Given the description of an element on the screen output the (x, y) to click on. 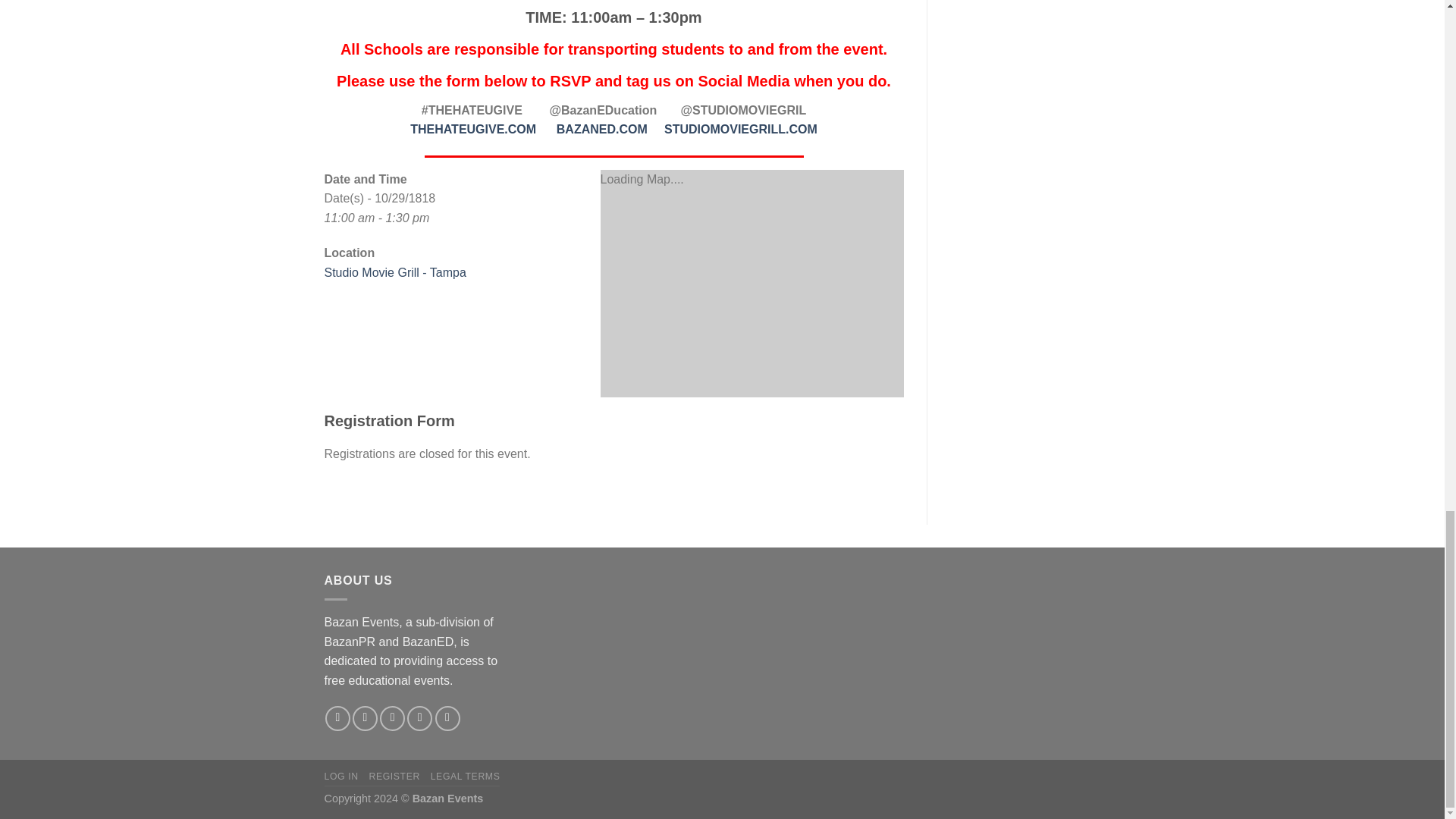
Follow on Facebook (337, 718)
Send us an email (419, 718)
LOG IN (341, 776)
LEGAL TERMS (465, 776)
Follow on Instagram (364, 718)
Follow on Pinterest (447, 718)
BAZANED.COM (601, 128)
THEHATEUGIVE.COM (472, 128)
Studio Movie Grill - Tampa (394, 272)
Follow on Twitter (392, 718)
STUDIOMOVIEGRILL.COM (739, 128)
REGISTER (393, 776)
